Given the description of an element on the screen output the (x, y) to click on. 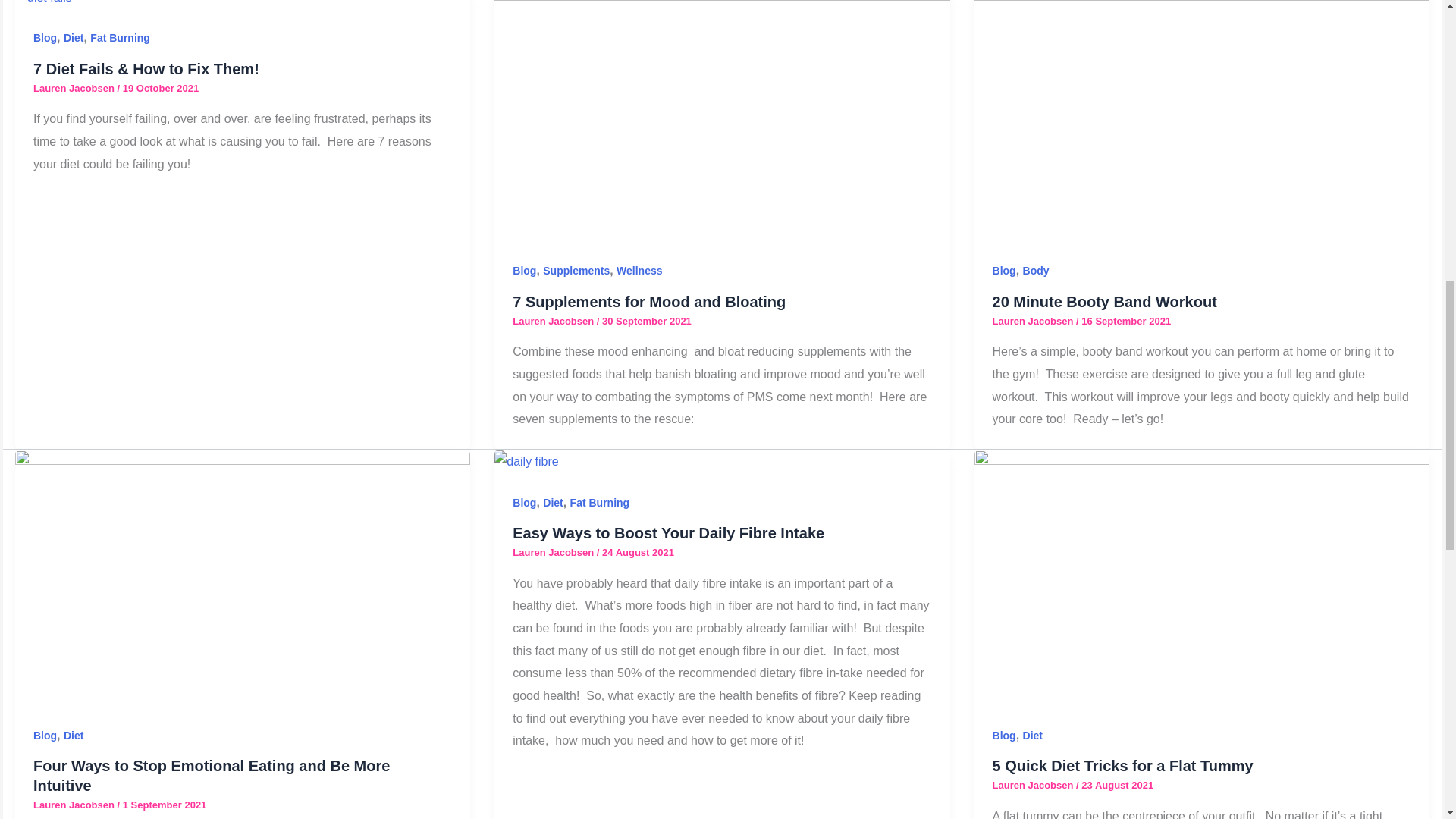
View all posts by Lauren Jacobsen (75, 804)
View all posts by Lauren Jacobsen (75, 88)
View all posts by Lauren Jacobsen (554, 320)
View all posts by Lauren Jacobsen (554, 552)
View all posts by Lauren Jacobsen (1034, 320)
View all posts by Lauren Jacobsen (1034, 785)
